Given the description of an element on the screen output the (x, y) to click on. 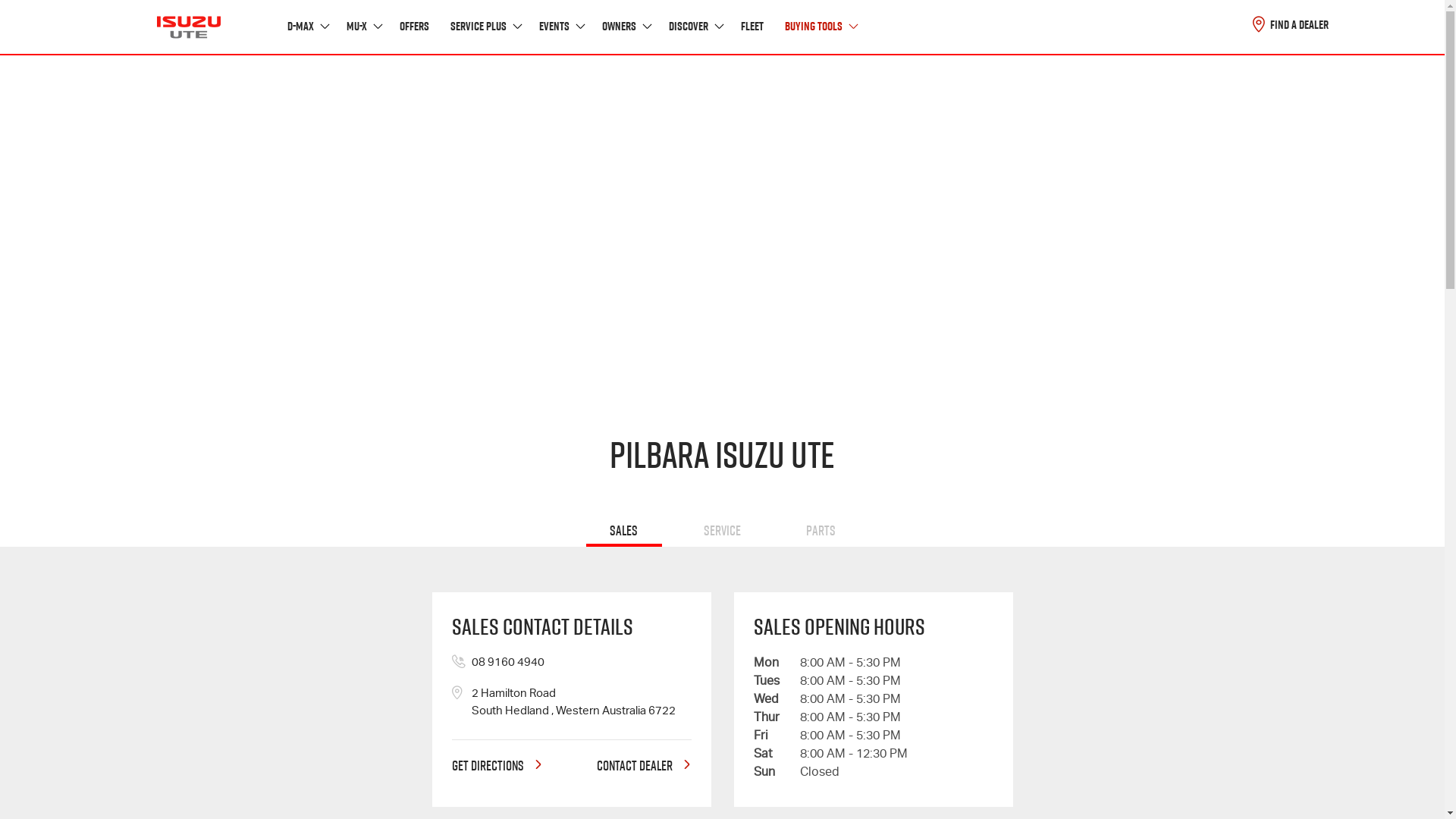
Events Element type: text (559, 26)
GET DIRECTIONS Element type: text (496, 767)
Fleet Element type: text (751, 26)
Owners Element type: text (625, 26)
Service Element type: text (721, 532)
FIND A DEALER Element type: text (1290, 24)
Parts Element type: text (820, 532)
Offers Element type: text (413, 26)
Sales Element type: text (623, 532)
Discover Element type: text (694, 26)
Service Plus Element type: text (484, 26)
D-MAX Element type: text (306, 26)
MU-X Element type: text (362, 26)
Buying Tools Element type: text (819, 26)
CONTACT DEALER Element type: text (643, 767)
